Given the description of an element on the screen output the (x, y) to click on. 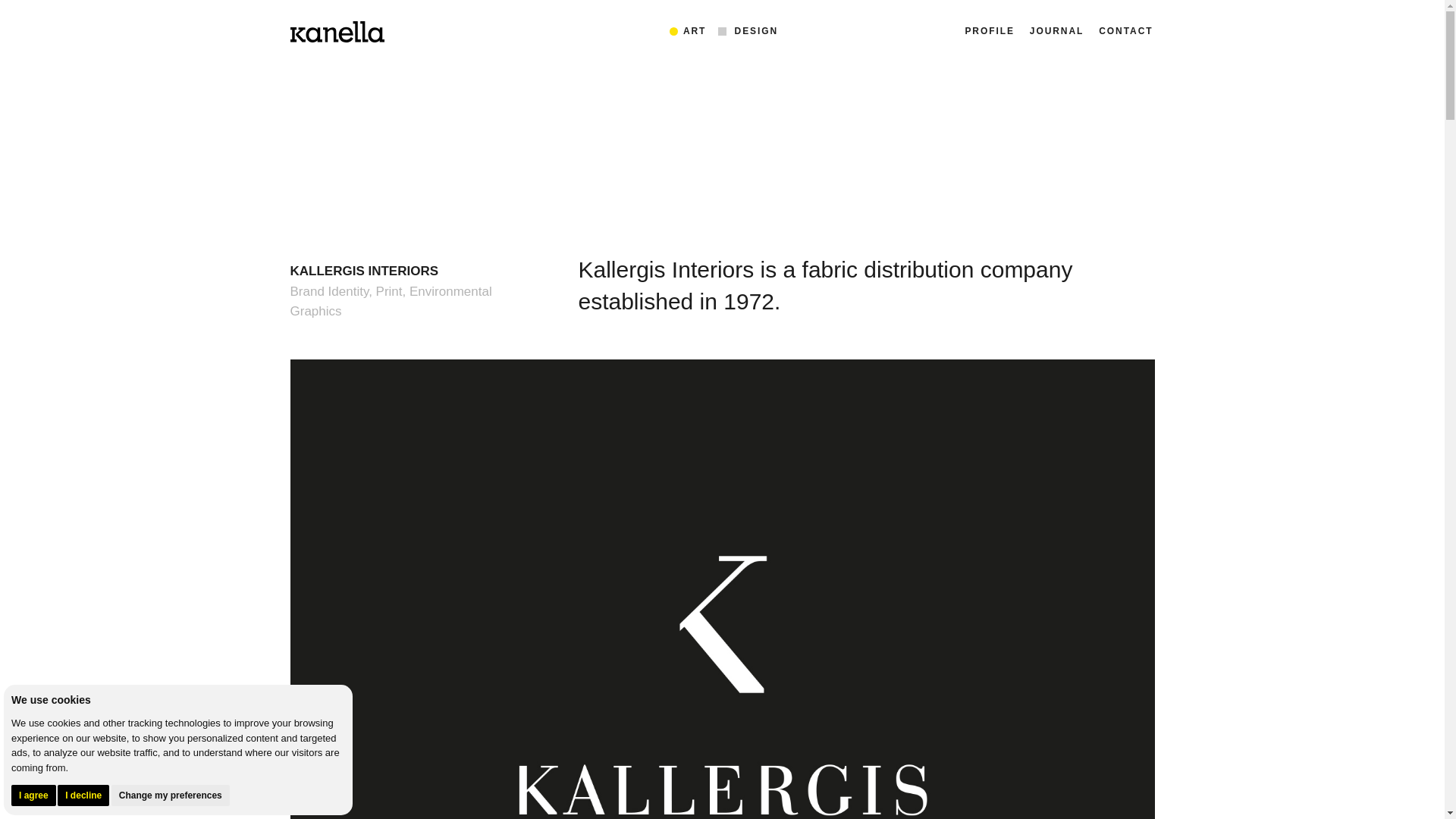
ART (694, 30)
I agree (33, 794)
Change my preferences (171, 794)
DESIGN (756, 30)
I decline (83, 794)
CONTACT (1125, 33)
JOURNAL (1055, 33)
PROFILE (988, 33)
